Given the description of an element on the screen output the (x, y) to click on. 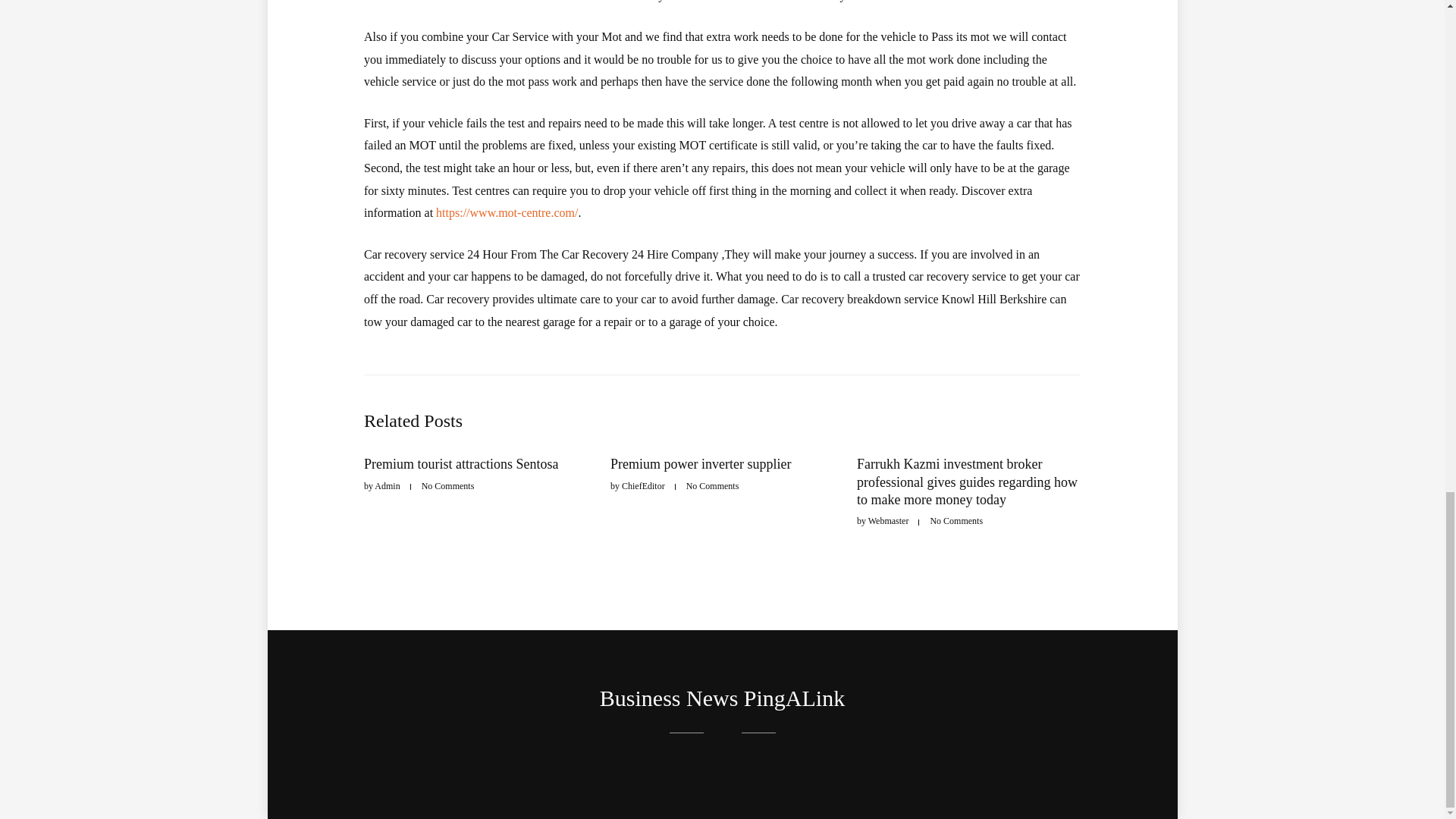
Premium power inverter supplier (700, 463)
Premium tourist attractions Sentosa (460, 463)
